Given the description of an element on the screen output the (x, y) to click on. 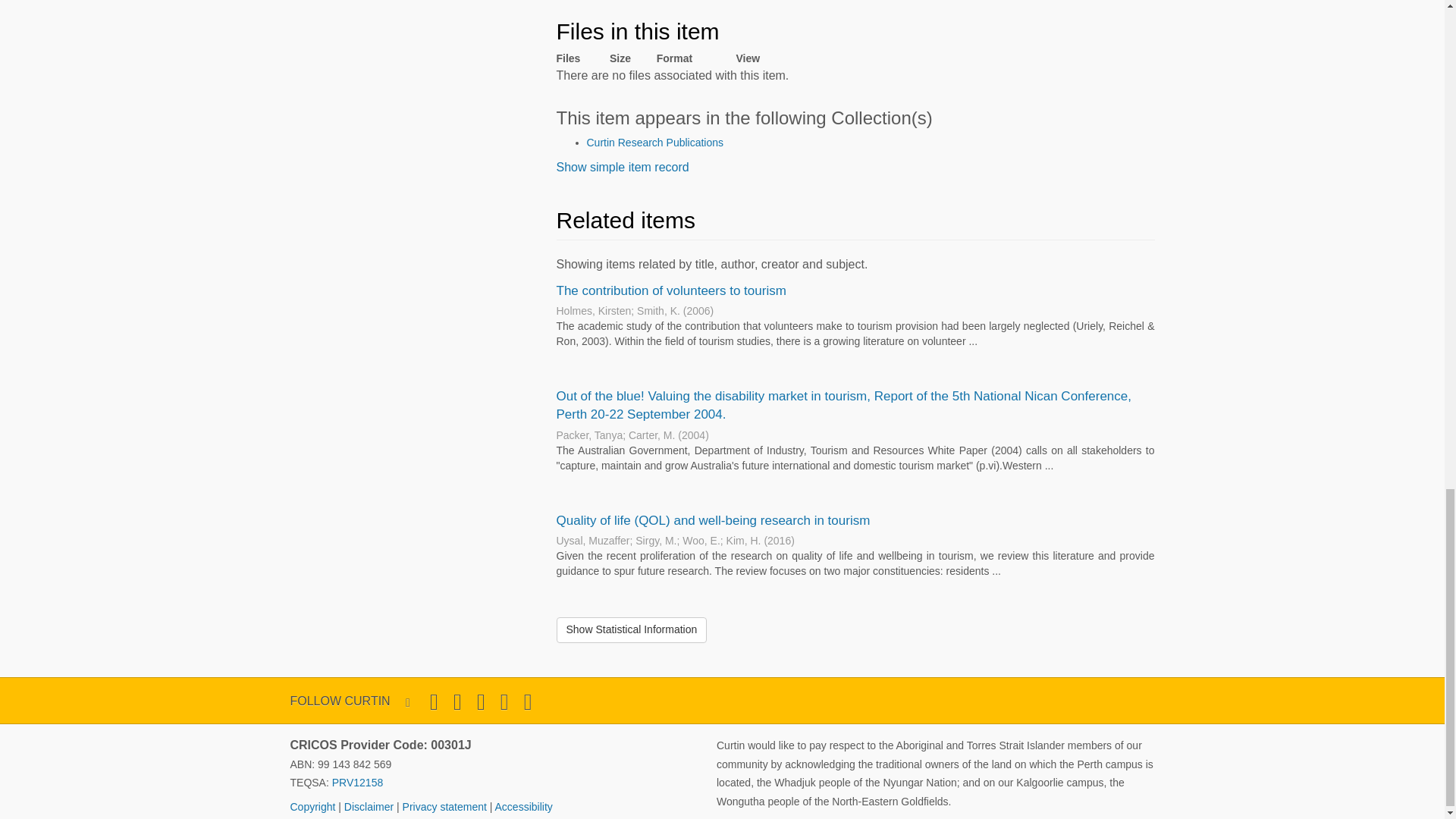
Curtin Research Publications (654, 142)
Show simple item record (622, 166)
Show Statistical Information (631, 629)
The contribution of volunteers to tourism (671, 290)
